Given the description of an element on the screen output the (x, y) to click on. 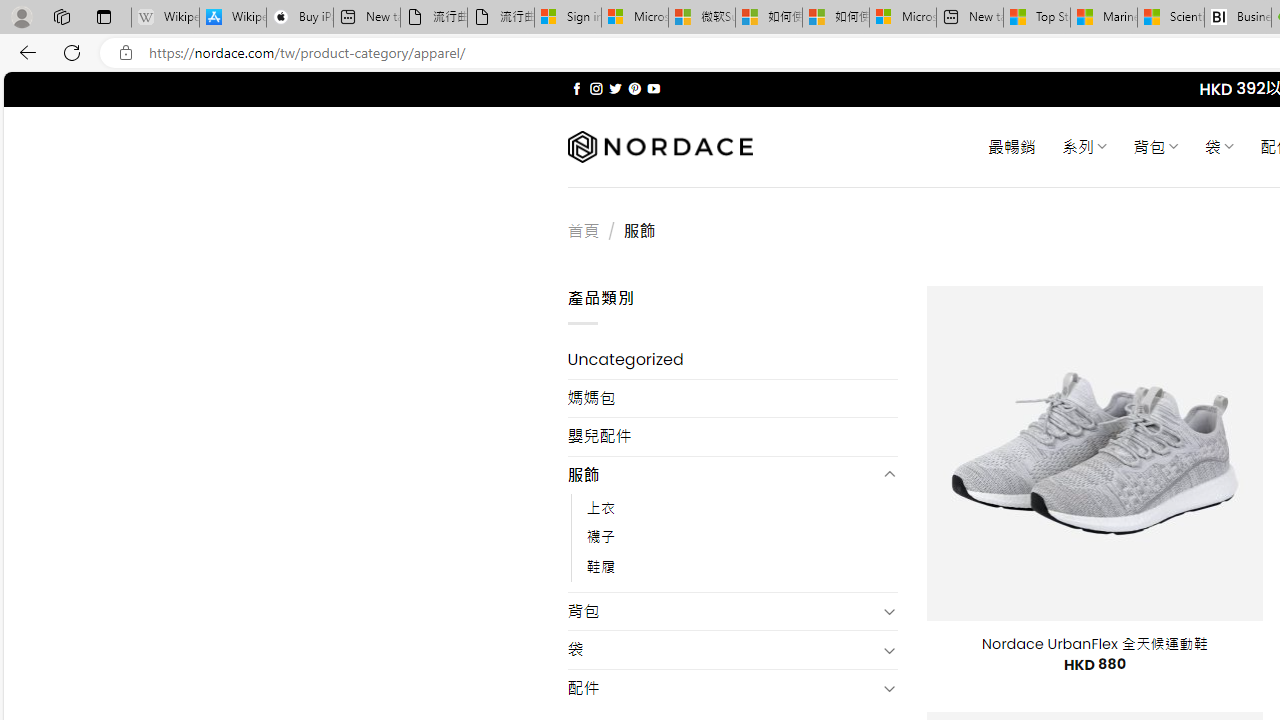
New tab (970, 17)
Uncategorized (732, 359)
Follow on Pinterest (634, 88)
Buy iPad - Apple (299, 17)
Workspaces (61, 16)
